Given the description of an element on the screen output the (x, y) to click on. 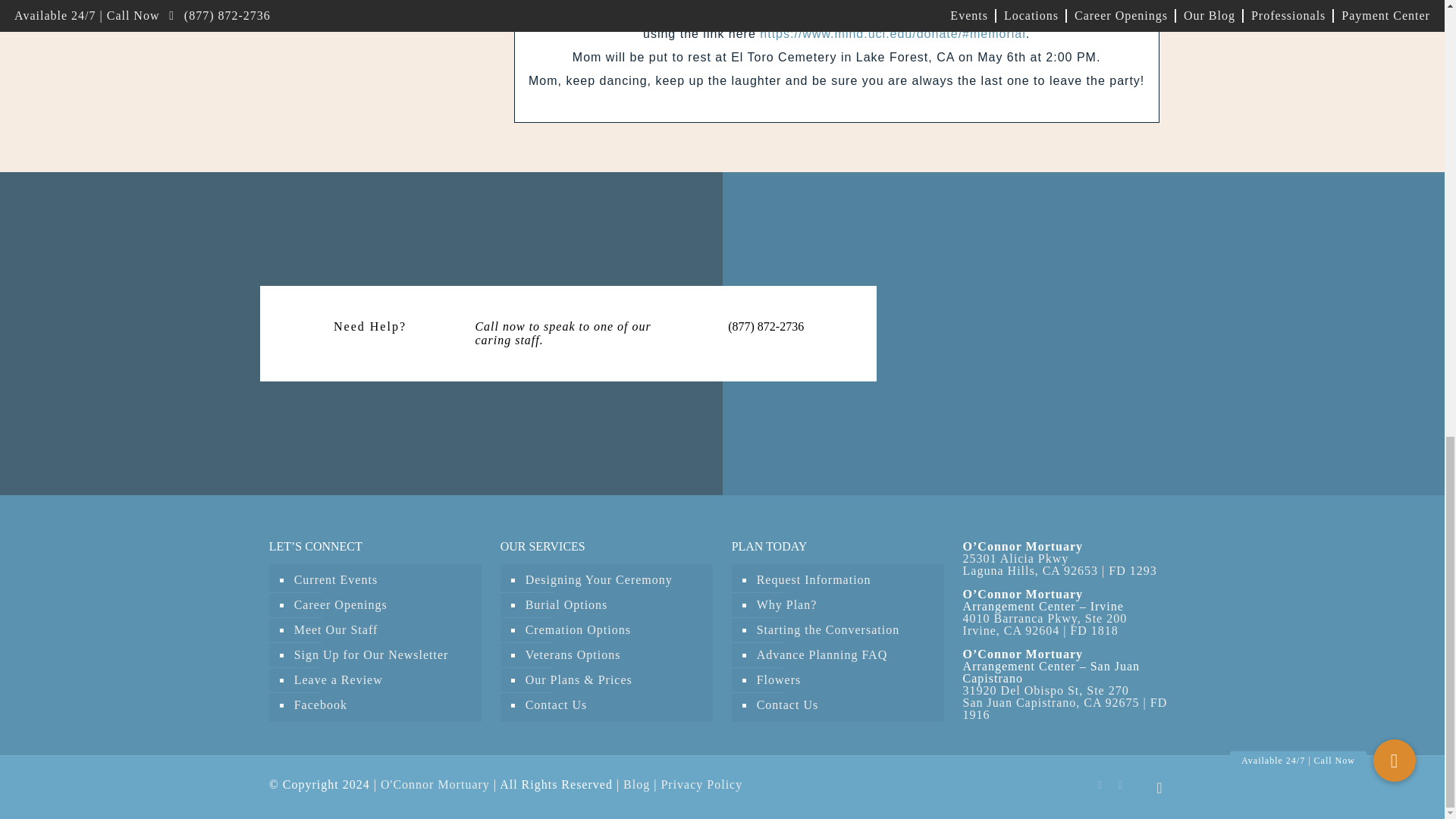
Facebook (1100, 784)
Instagram (1120, 784)
